Given the description of an element on the screen output the (x, y) to click on. 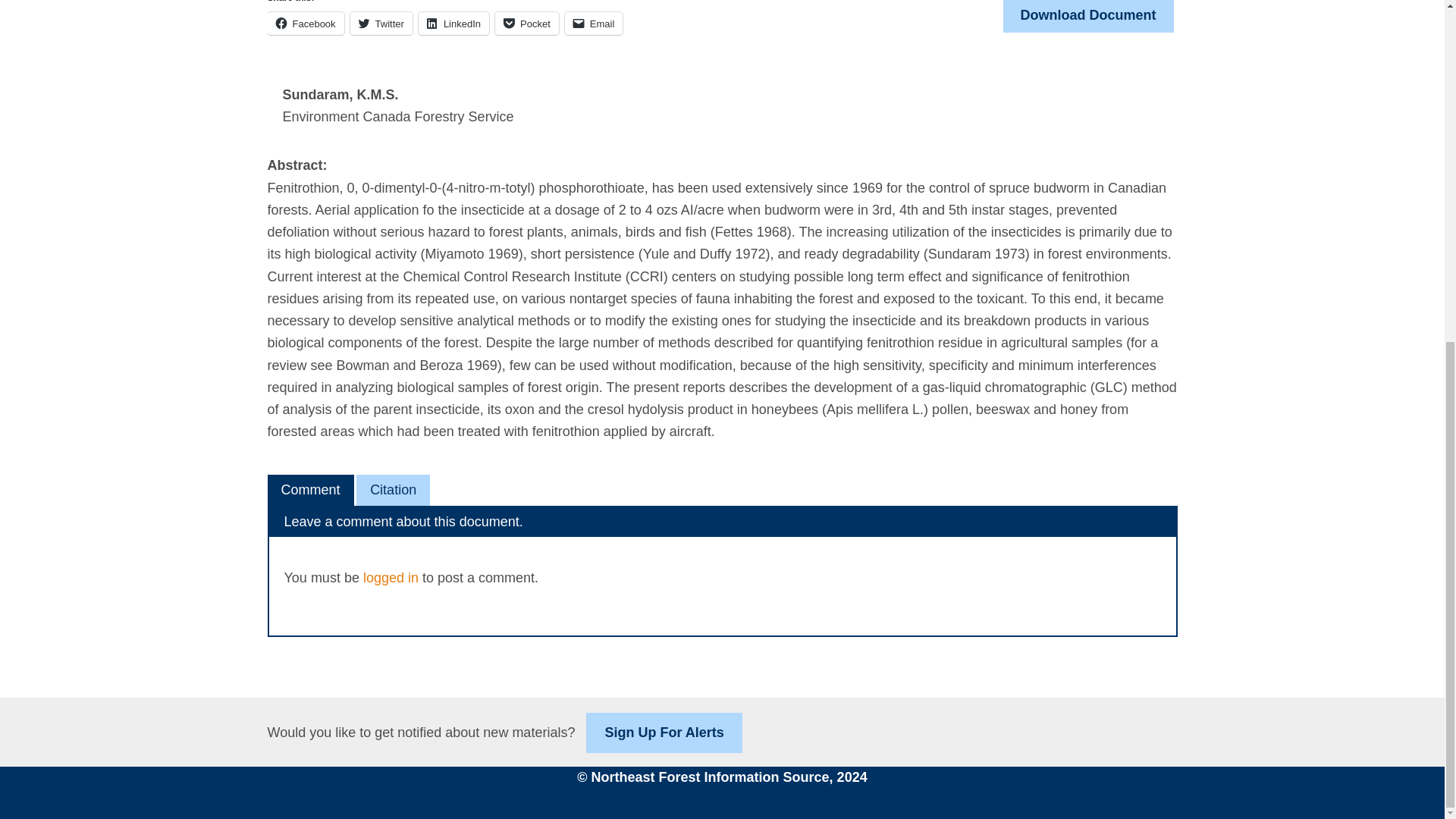
Facebook (304, 23)
Sign Up For Alerts (663, 732)
Citation (392, 490)
Comment (309, 490)
Click to share on Pocket (527, 23)
Click to share on LinkedIn (454, 23)
Twitter (381, 23)
Pocket (527, 23)
Email (593, 23)
Click to share on Twitter (381, 23)
